Given the description of an element on the screen output the (x, y) to click on. 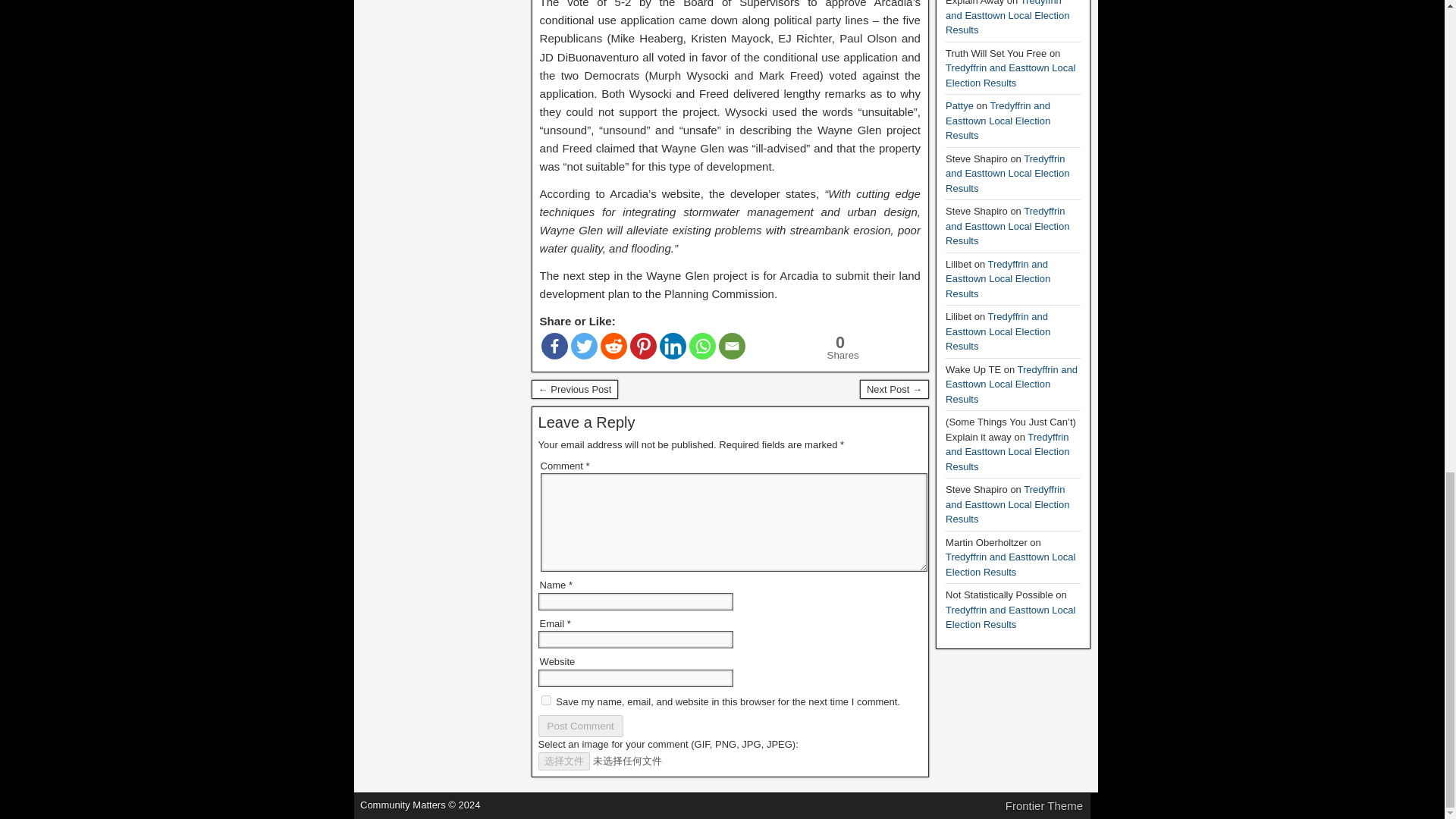
Total Shares (840, 347)
Whatsapp (702, 345)
Post Comment (580, 725)
Twitter (838, 347)
Post Comment (583, 345)
Facebook (580, 725)
Pinterest (554, 345)
Linkedin (643, 345)
Email (672, 345)
yes (732, 345)
Reddit (546, 700)
